Given the description of an element on the screen output the (x, y) to click on. 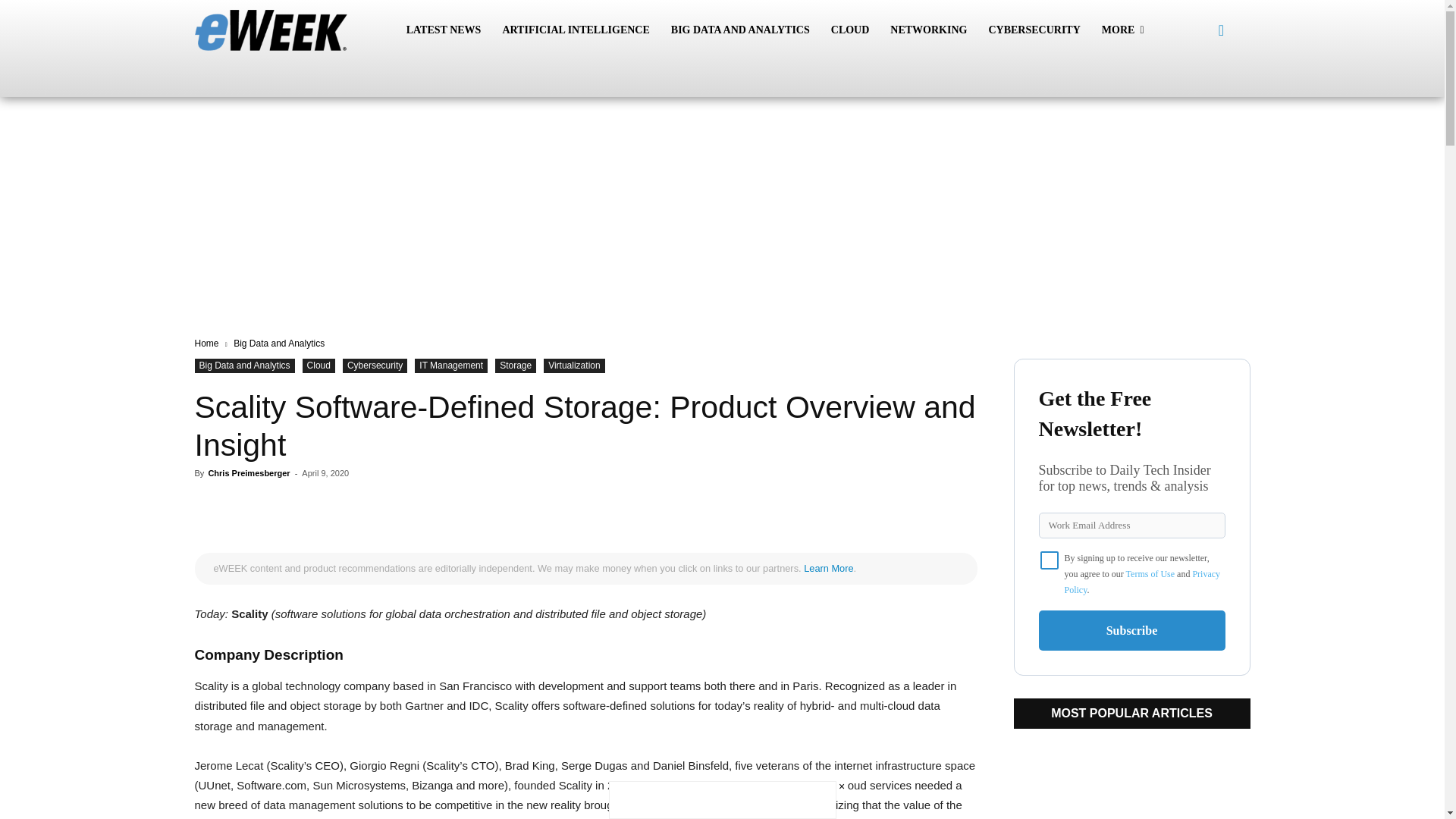
LATEST NEWS (444, 30)
NETWORKING (927, 30)
on (1049, 560)
CLOUD (850, 30)
CYBERSECURITY (1033, 30)
BIG DATA AND ANALYTICS (741, 30)
ARTIFICIAL INTELLIGENCE (575, 30)
